Given the description of an element on the screen output the (x, y) to click on. 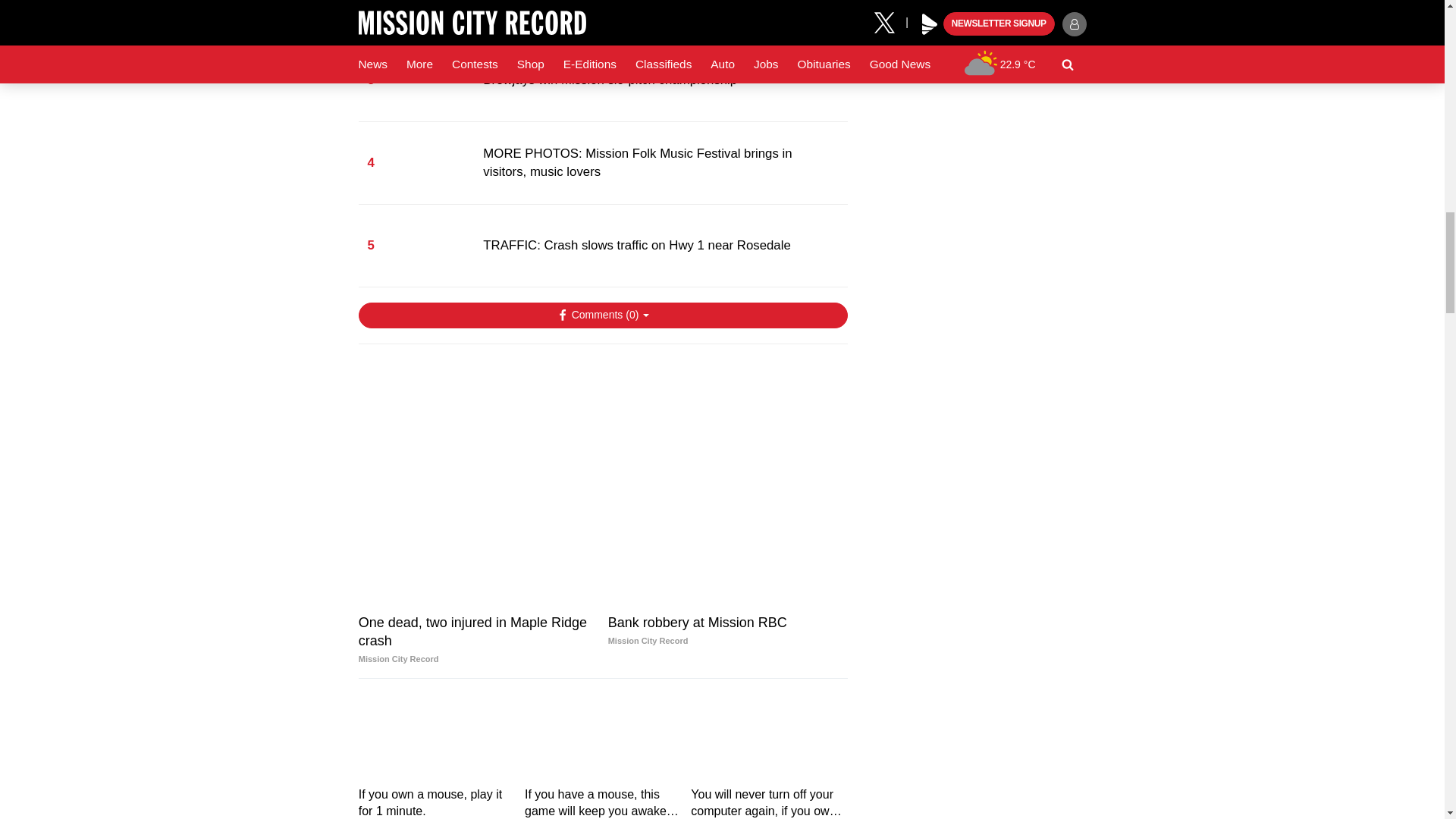
Bank robbery at Mission RBC (727, 542)
If you own a mouse, play it for 1 minute. (436, 802)
One dead, two injured in Maple Ridge crash (478, 542)
Show Comments (602, 315)
If you own a mouse, play it for 1 minute. (436, 738)
Bank robbery at Mission RBC (727, 631)
One dead, two injured in Maple Ridge crash (478, 640)
